Given the description of an element on the screen output the (x, y) to click on. 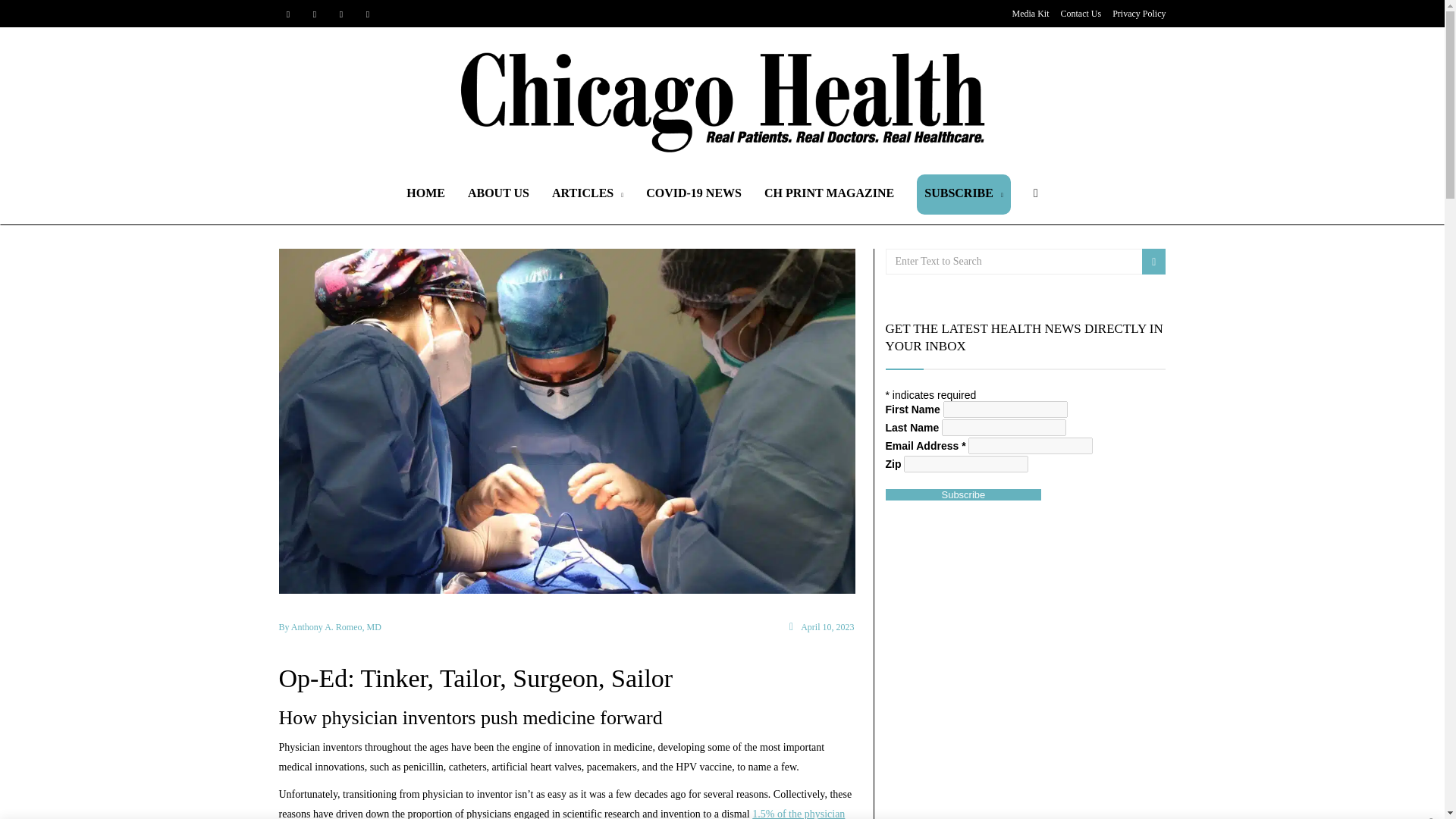
Subscribe (963, 494)
Login (727, 426)
